Given the description of an element on the screen output the (x, y) to click on. 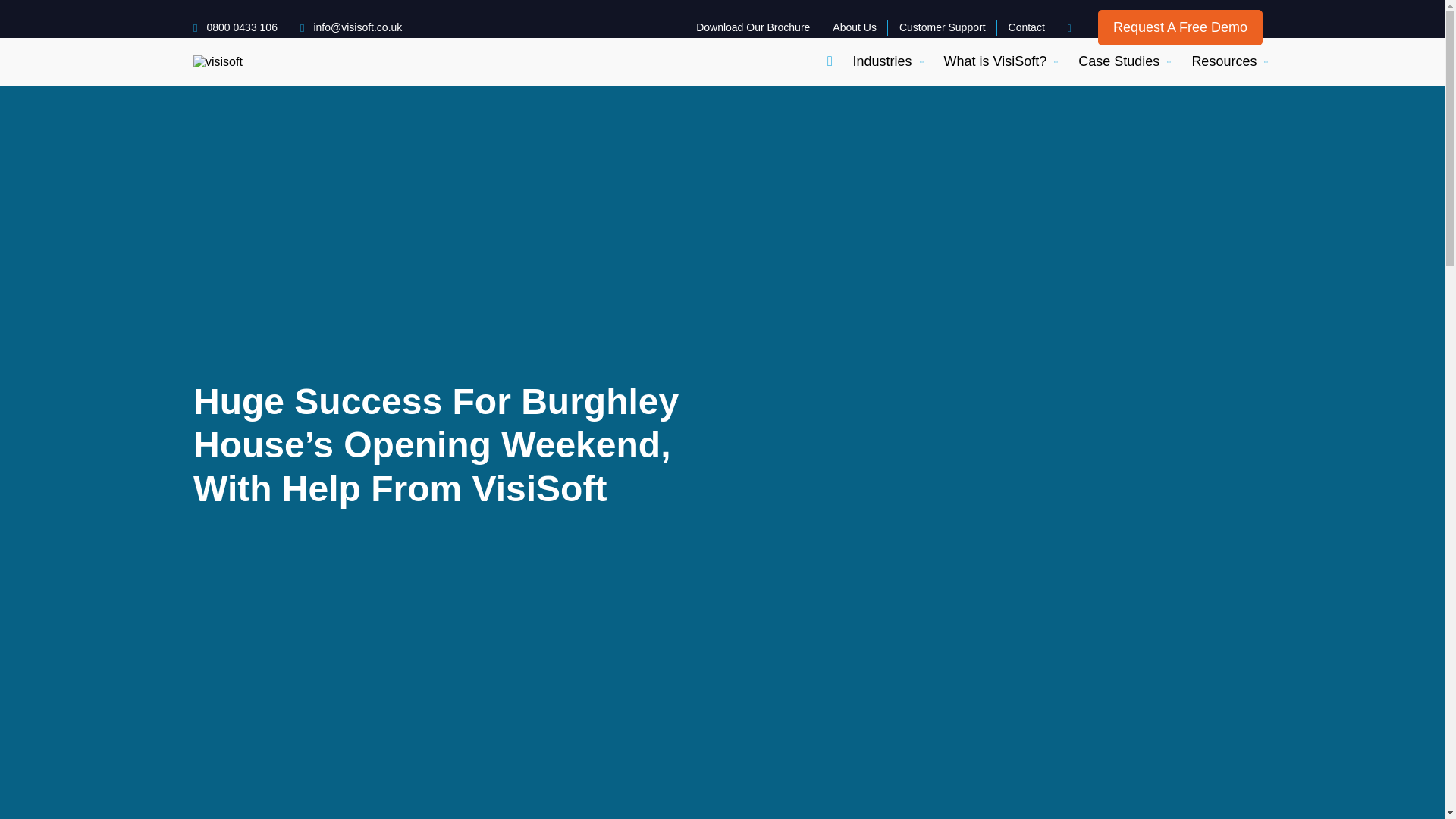
Industries (881, 61)
Resources (1223, 61)
Customer Support (942, 27)
Contact (1027, 27)
About Us (854, 27)
0800 0433 106 (235, 27)
Request A Free Demo (1179, 27)
Case Studies (1118, 61)
Download Our Brochure (752, 27)
What is VisiSoft? (994, 61)
